Given the description of an element on the screen output the (x, y) to click on. 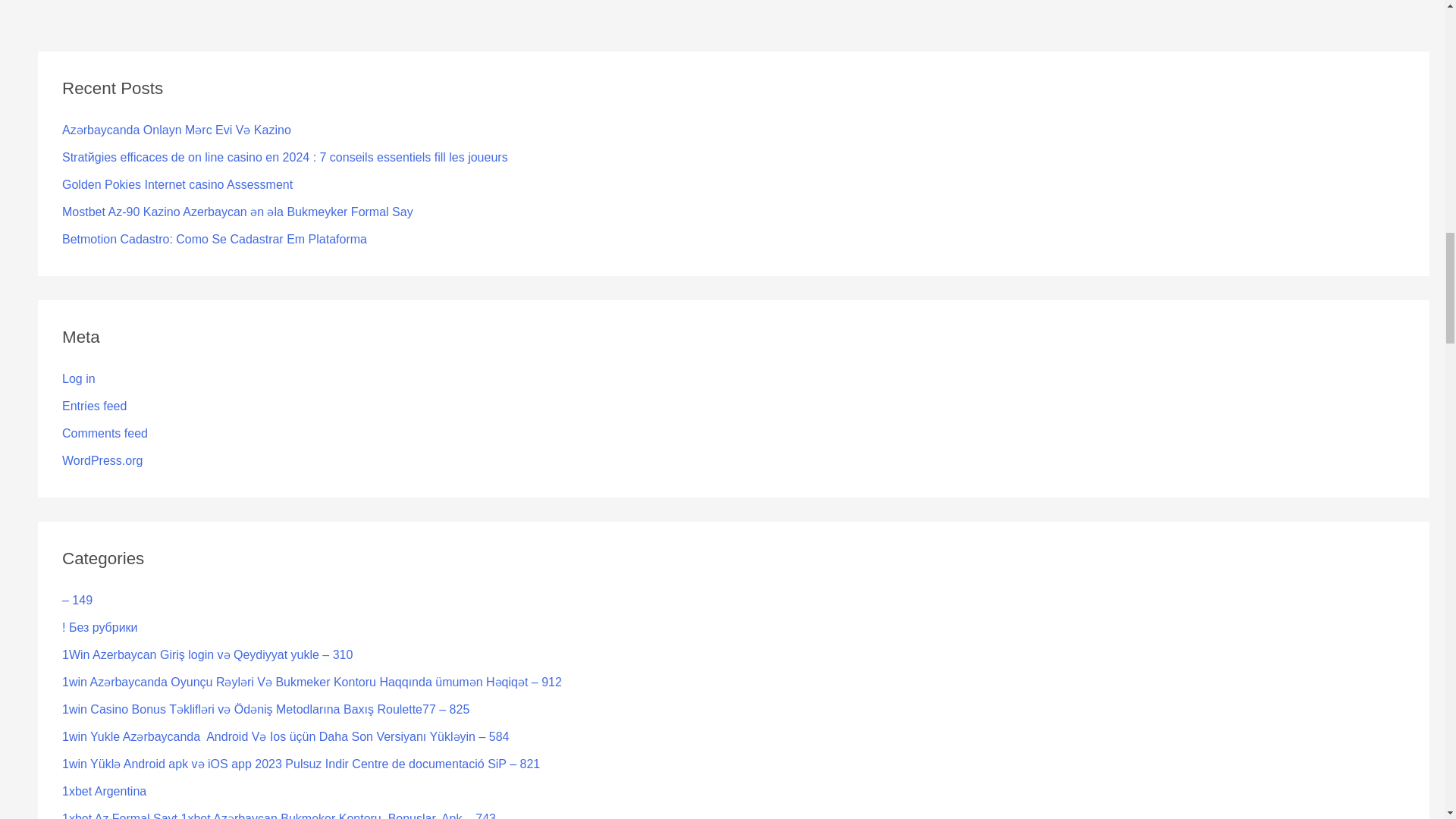
Log in (79, 378)
Entries feed (94, 405)
WordPress.org (102, 460)
Comments feed (105, 432)
Betmotion Cadastro: Como Se Cadastrar Em Plataforma (214, 238)
Golden Pokies Internet casino Assessment (177, 184)
